Given the description of an element on the screen output the (x, y) to click on. 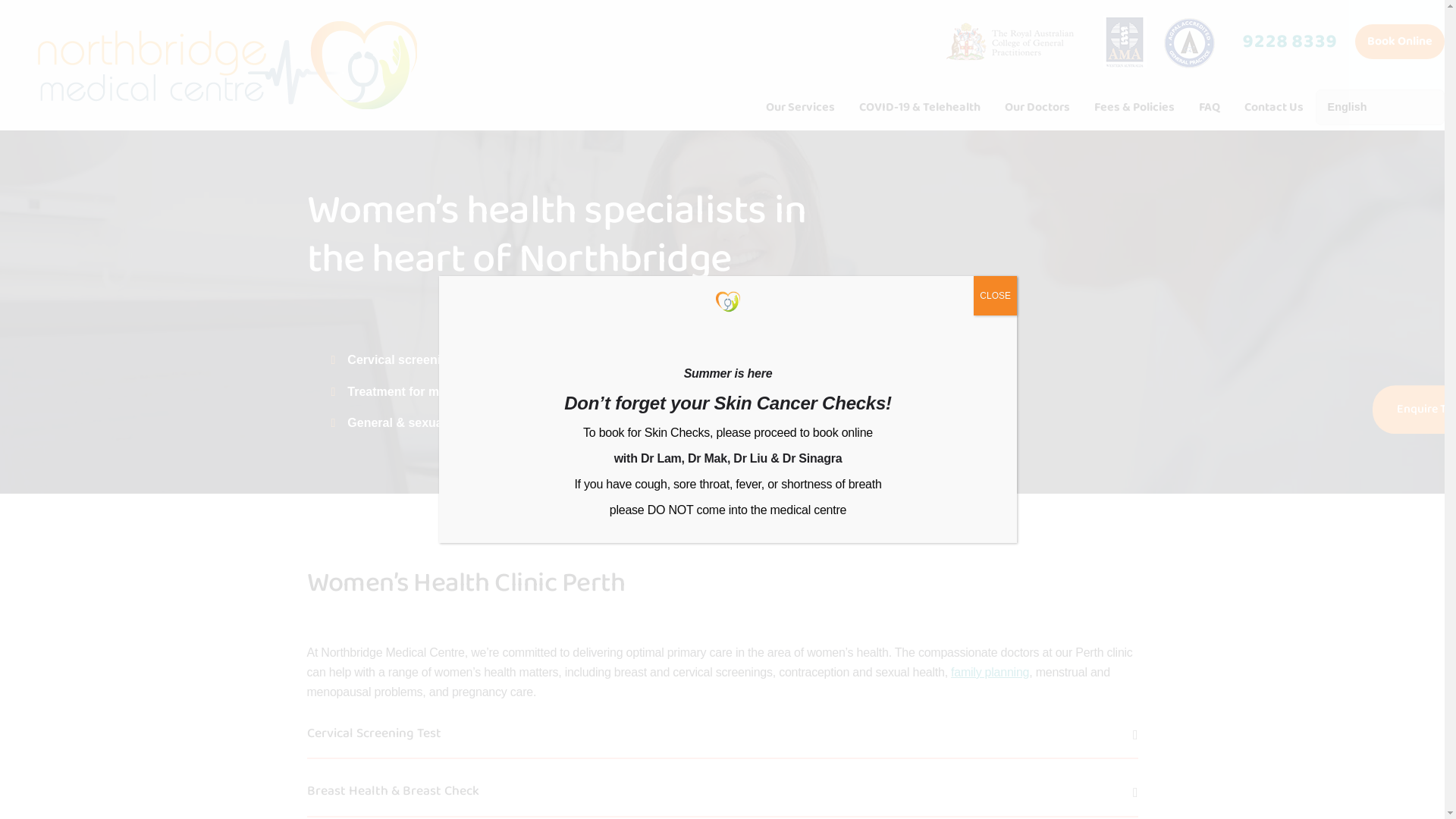
family planning Element type: text (989, 671)
FAQ Element type: text (1209, 108)
Northbridge Medical Element type: text (227, 65)
Our Doctors Element type: text (1037, 108)
Contact Us Element type: text (1273, 108)
COVID-19 & Telehealth Element type: text (919, 108)
Fees & Policies Element type: text (1134, 108)
Our Services Element type: text (800, 108)
Book Online Element type: text (1399, 41)
CLOSE Element type: text (994, 295)
9228 8339 Element type: text (1289, 41)
